Given the description of an element on the screen output the (x, y) to click on. 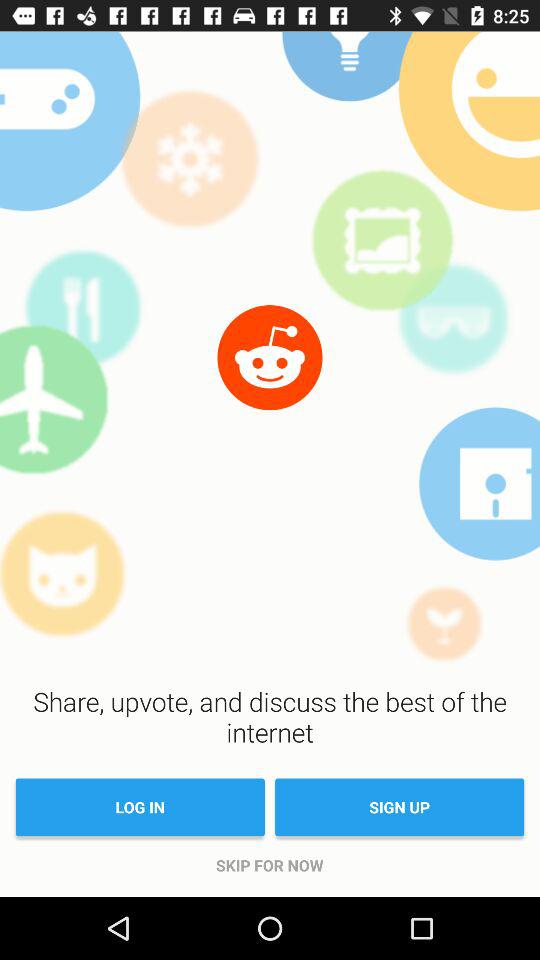
launch the item to the right of the log in item (399, 807)
